Given the description of an element on the screen output the (x, y) to click on. 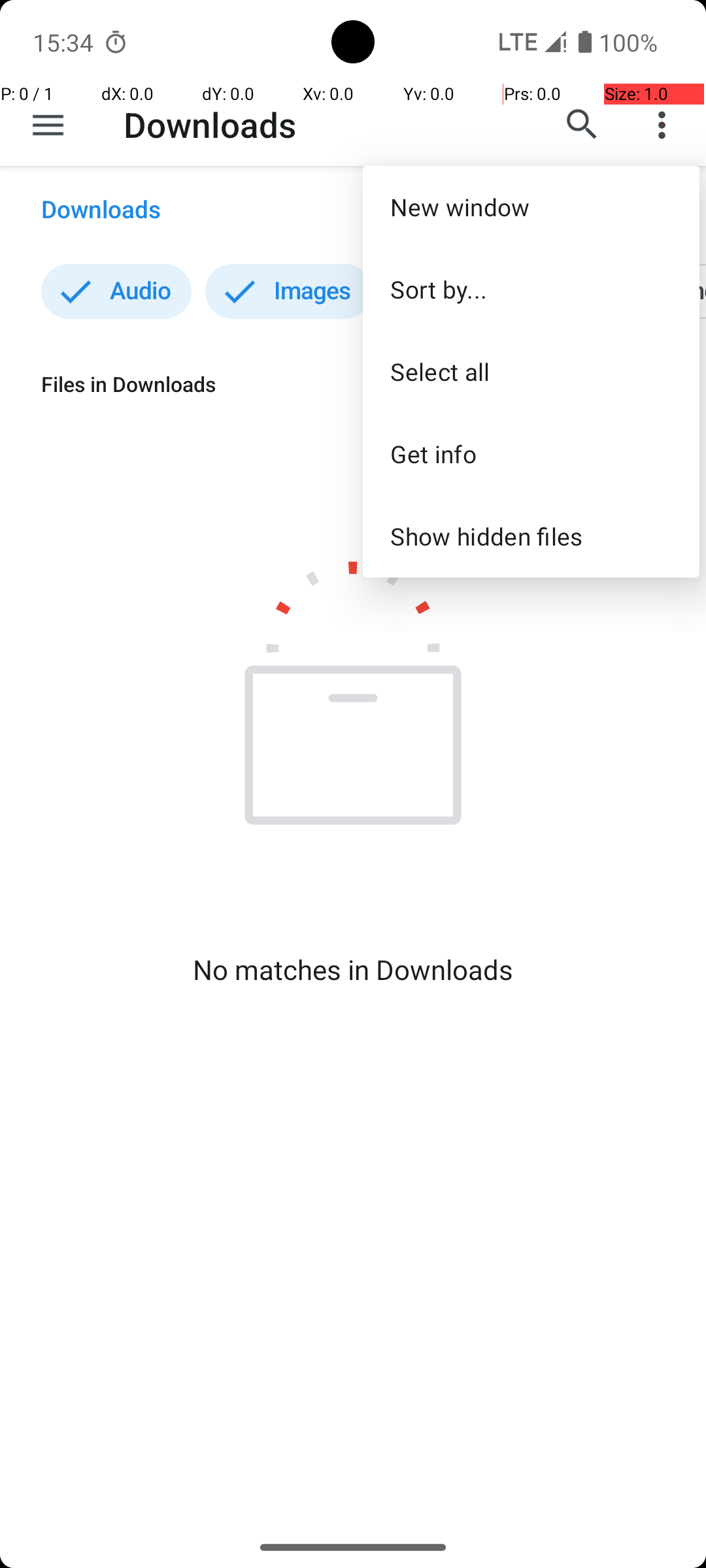
New window Element type: android.widget.TextView (531, 206)
Sort by... Element type: android.widget.TextView (531, 288)
Select all Element type: android.widget.TextView (531, 371)
Get info Element type: android.widget.TextView (531, 453)
Show hidden files Element type: android.widget.TextView (531, 535)
